Given the description of an element on the screen output the (x, y) to click on. 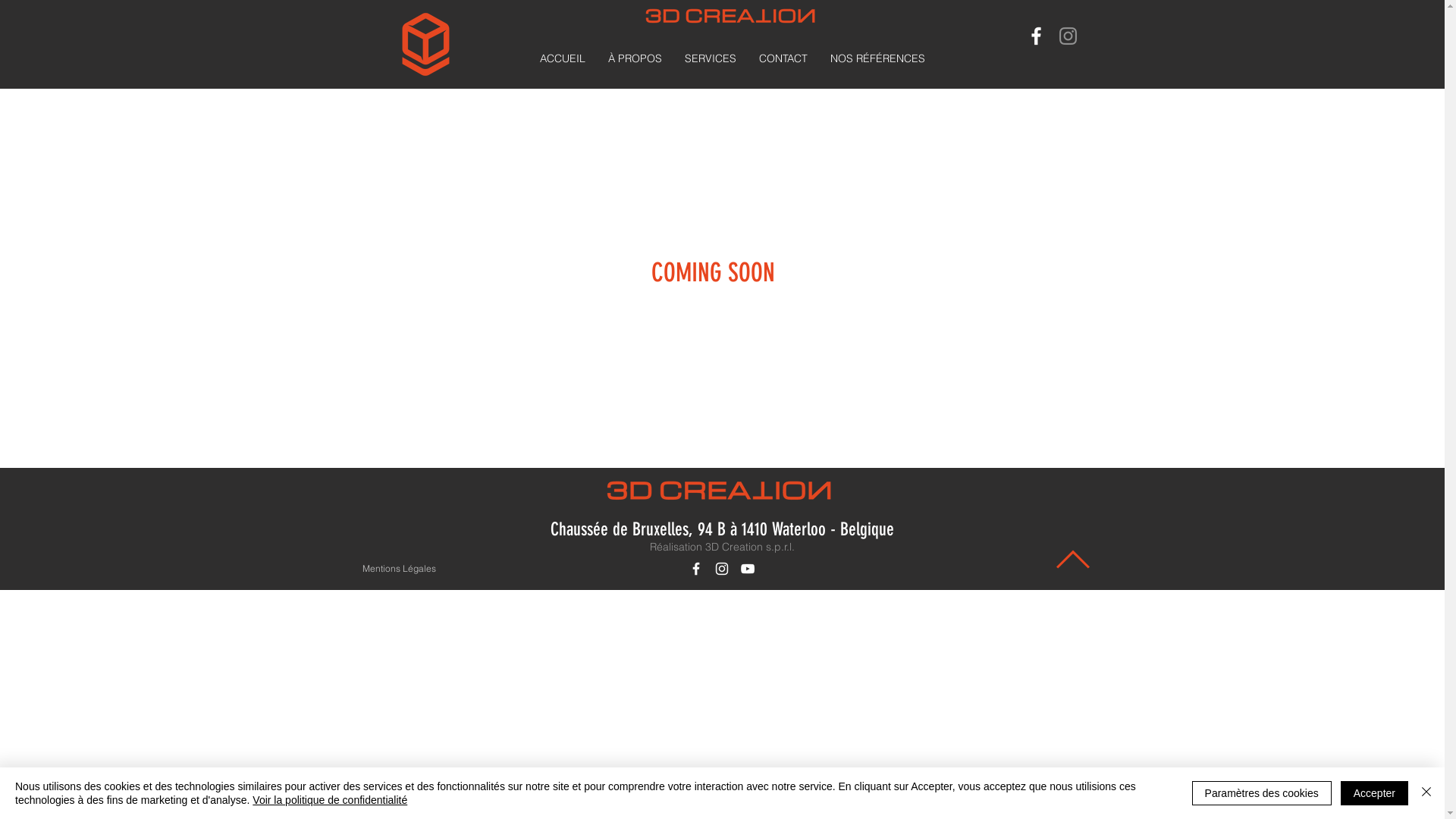
CONTACT Element type: text (783, 58)
Accepter Element type: text (1374, 793)
TWIPLA (Visitor Analytics) Element type: hover (1442, 4)
ACCUEIL Element type: text (562, 58)
SERVICES Element type: text (710, 58)
